Given the description of an element on the screen output the (x, y) to click on. 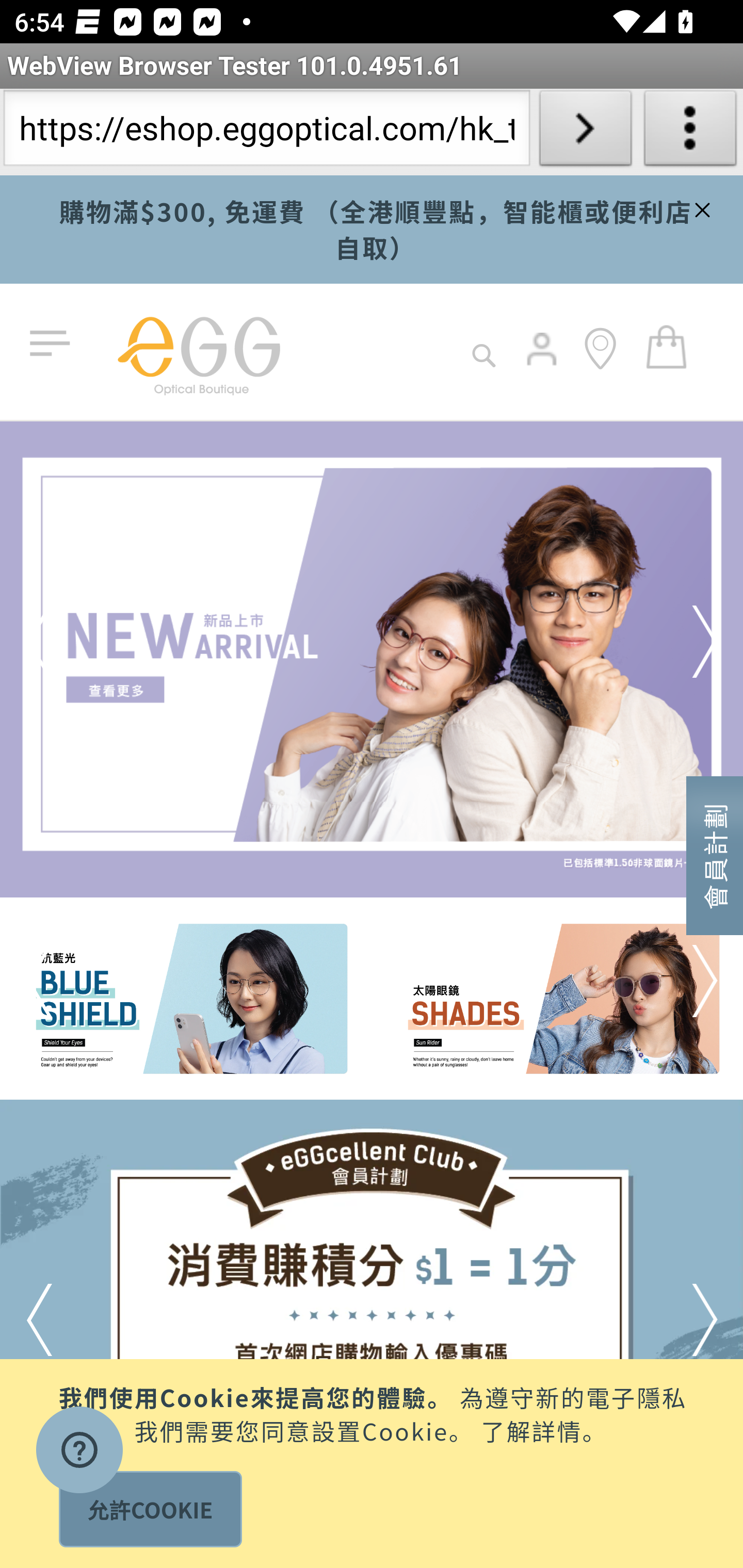
https://eshop.eggoptical.com/hk_tc/ (266, 132)
Load URL (585, 132)
About WebView (690, 132)
 (699, 206)
store logo eGG 網上商店 (198, 351)
切換導航 (54, 343)
我的購物車 (666, 345)
login (543, 362)
new-arrivals prev next (371, 659)
prev (66, 641)
next (677, 641)
會員計劃 (714, 854)
blue-shield (186, 999)
shades (557, 999)
next (677, 980)
create prev next (371, 1333)
prev (66, 1320)
next (677, 1320)
Opens a widget where you can find more information (79, 1452)
了解詳情 (531, 1429)
允許COOKIE (149, 1509)
